Given the description of an element on the screen output the (x, y) to click on. 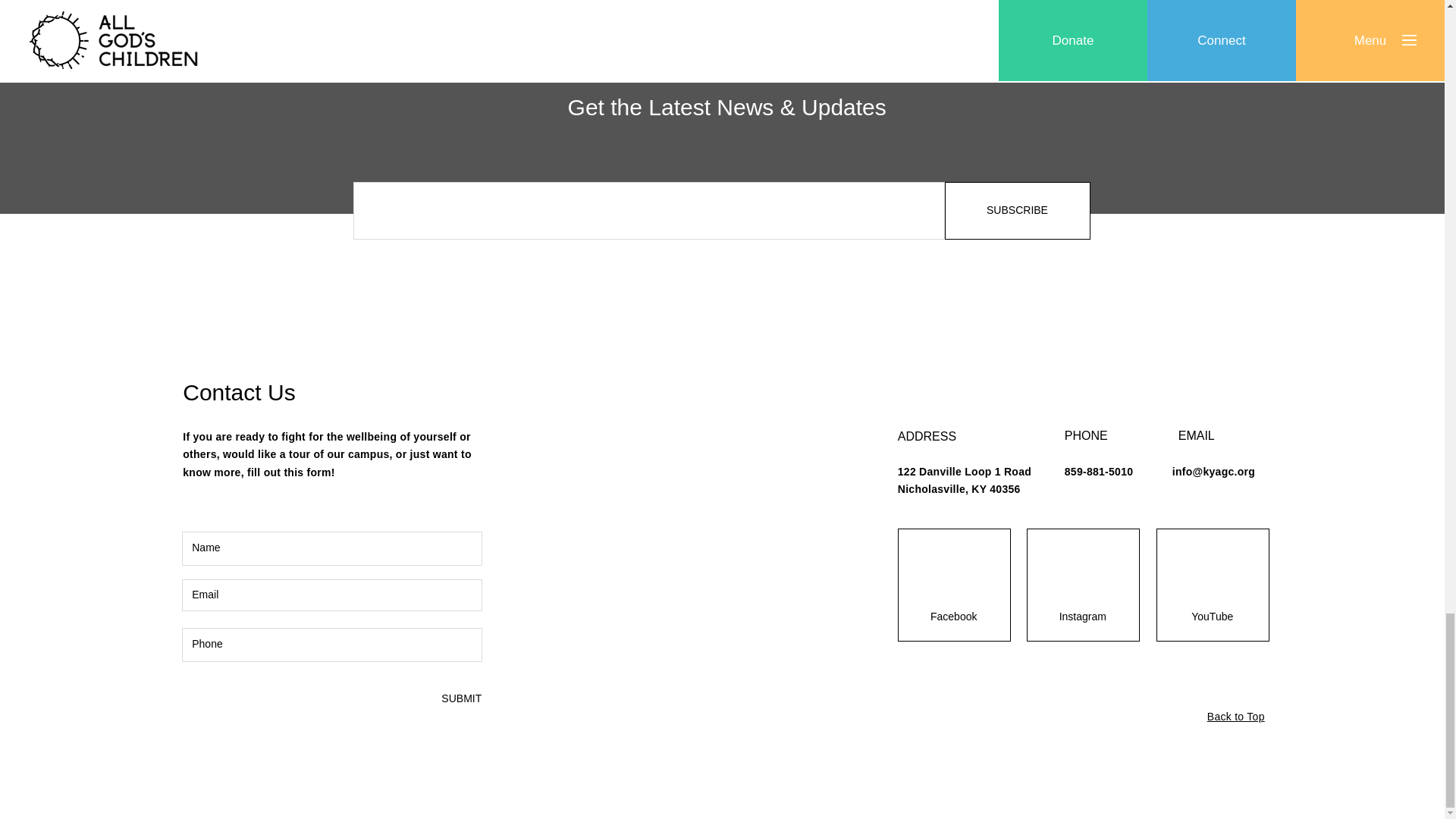
Facebook (954, 616)
Back to Top (1236, 716)
Instagram (1082, 616)
YouTube (1211, 616)
SUBSCRIBE (1017, 210)
SUBMIT (460, 699)
